Given the description of an element on the screen output the (x, y) to click on. 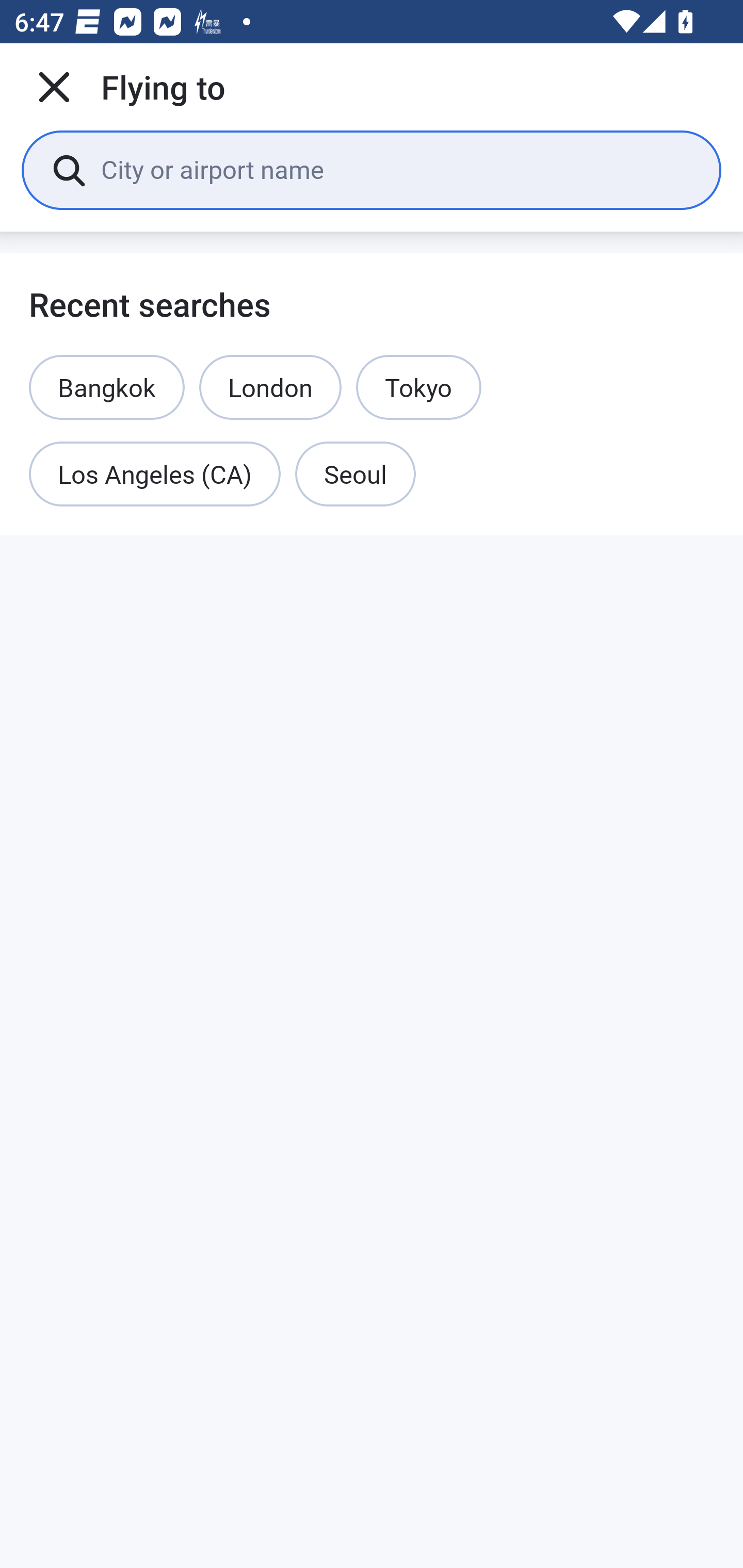
City or airport name (396, 169)
Bangkok (106, 387)
London (270, 387)
Tokyo (418, 387)
Los Angeles (CA) (154, 474)
Seoul (355, 474)
